Given the description of an element on the screen output the (x, y) to click on. 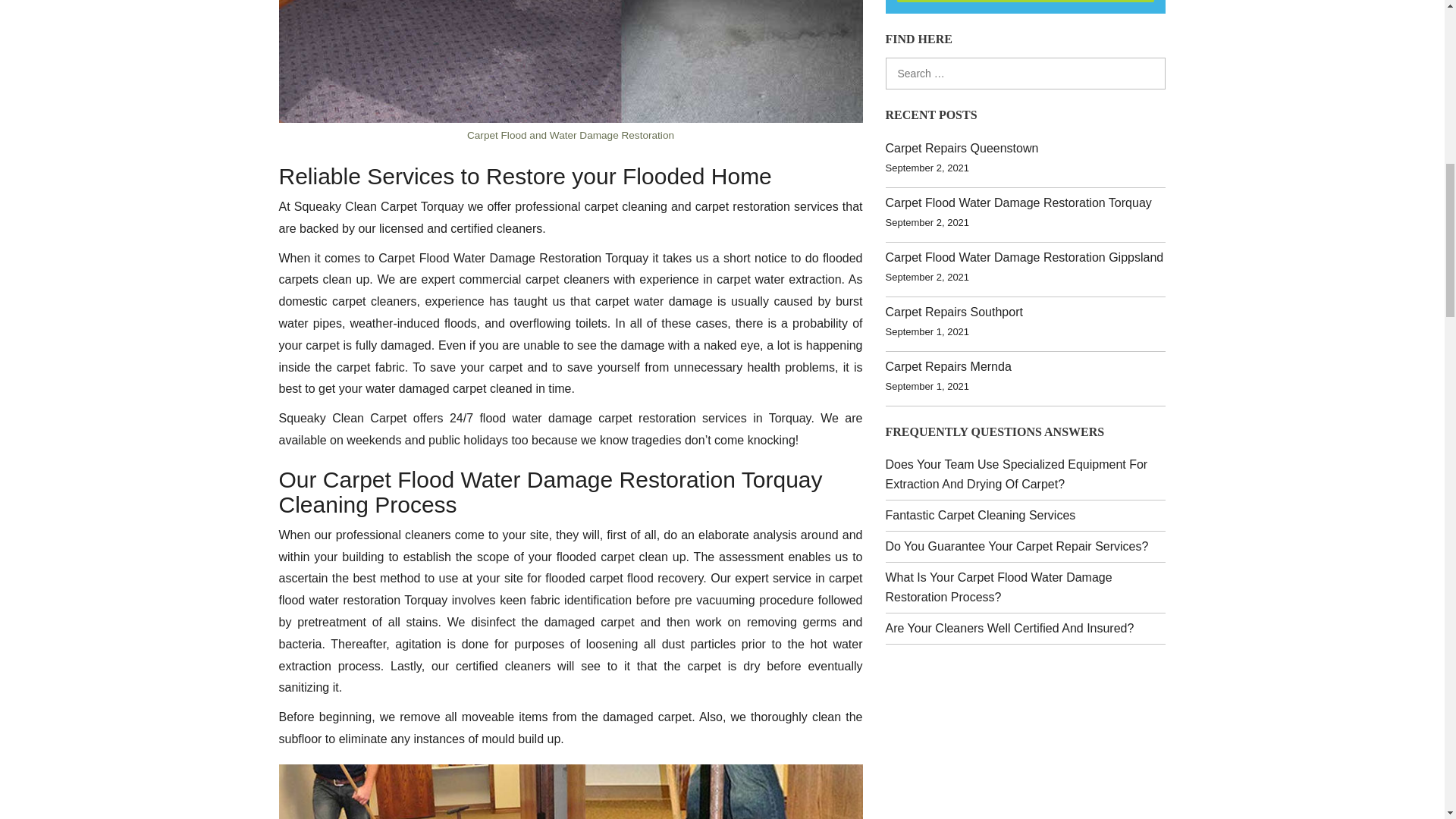
 Are your Cleaners Well Certified and Insured? (1009, 627)
 Fantastic Carpet Cleaning Services (980, 514)
 What is your carpet flood water damage restoration process? (998, 586)
 Do you Guarantee your Carpet Repair Services? (1016, 545)
